Given the description of an element on the screen output the (x, y) to click on. 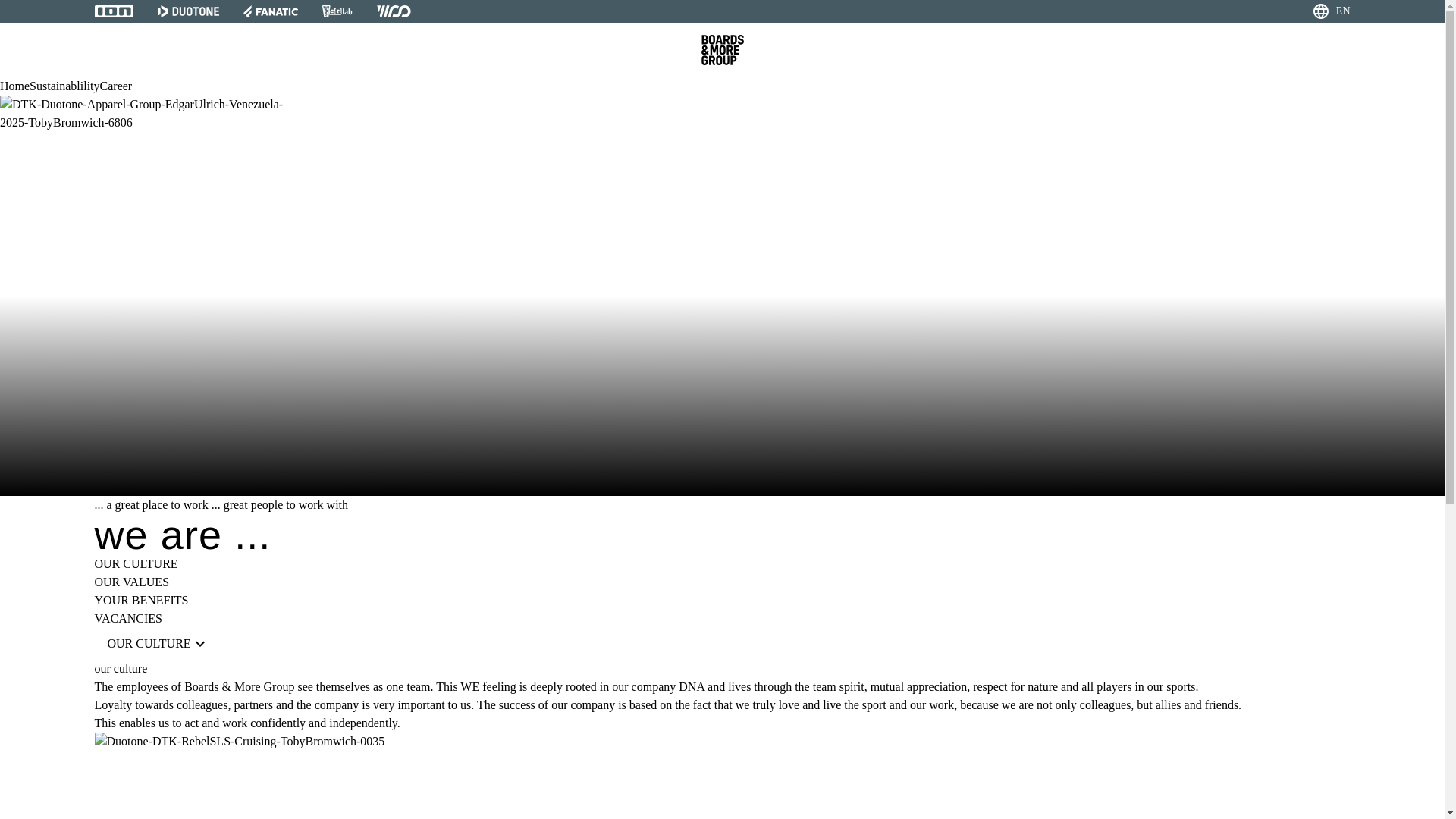
OUR CULTURE (135, 563)
Sustainablility (64, 85)
OUR VALUES (131, 581)
Career (116, 85)
OUR CULTURE (157, 644)
VACANCIES (127, 617)
Duotone Kite (324, 775)
YOUR BENEFITS (1331, 13)
Home (140, 599)
